Given the description of an element on the screen output the (x, y) to click on. 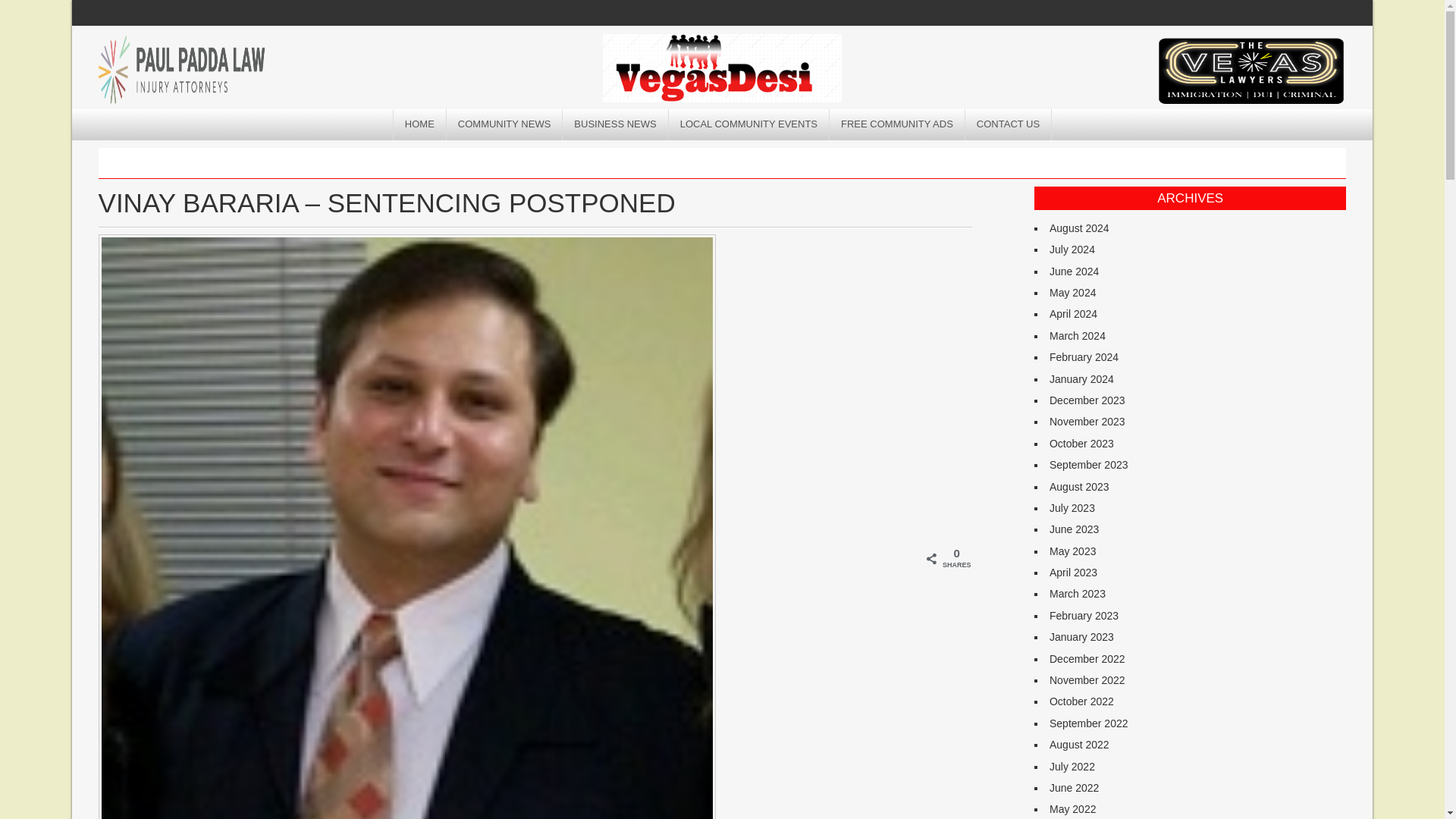
LOCAL COMMUNITY EVENTS (748, 124)
HOME (419, 124)
August 2024 (1079, 227)
COMMUNITY NEWS (504, 124)
FREE COMMUNITY ADS (897, 124)
BUSINESS NEWS (615, 124)
July 2024 (1071, 249)
CONTACT US (1008, 124)
